Given the description of an element on the screen output the (x, y) to click on. 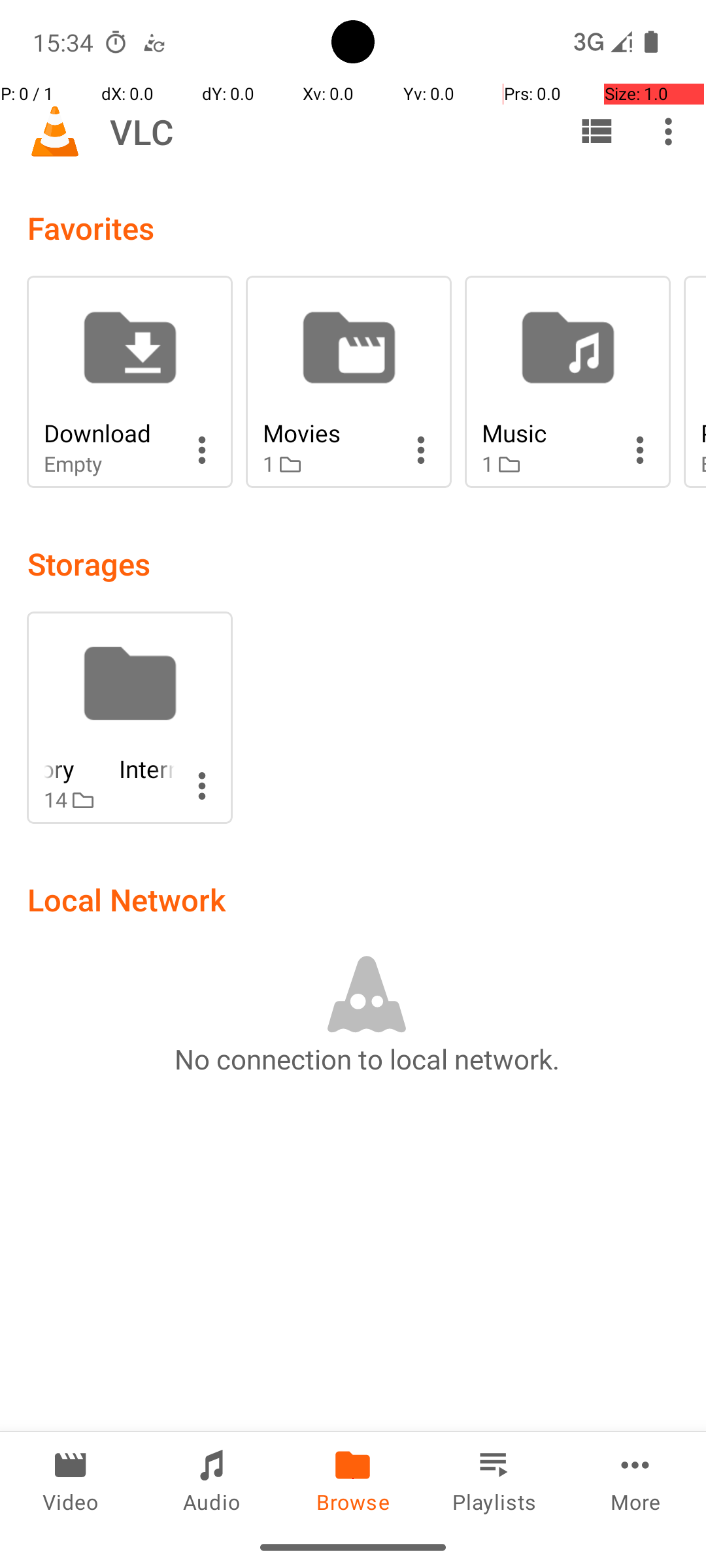
Folder: Internal memory, 14 subfolders Element type: androidx.cardview.widget.CardView (129, 717)
14 §*§ Element type: android.widget.TextView (108, 799)
